Given the description of an element on the screen output the (x, y) to click on. 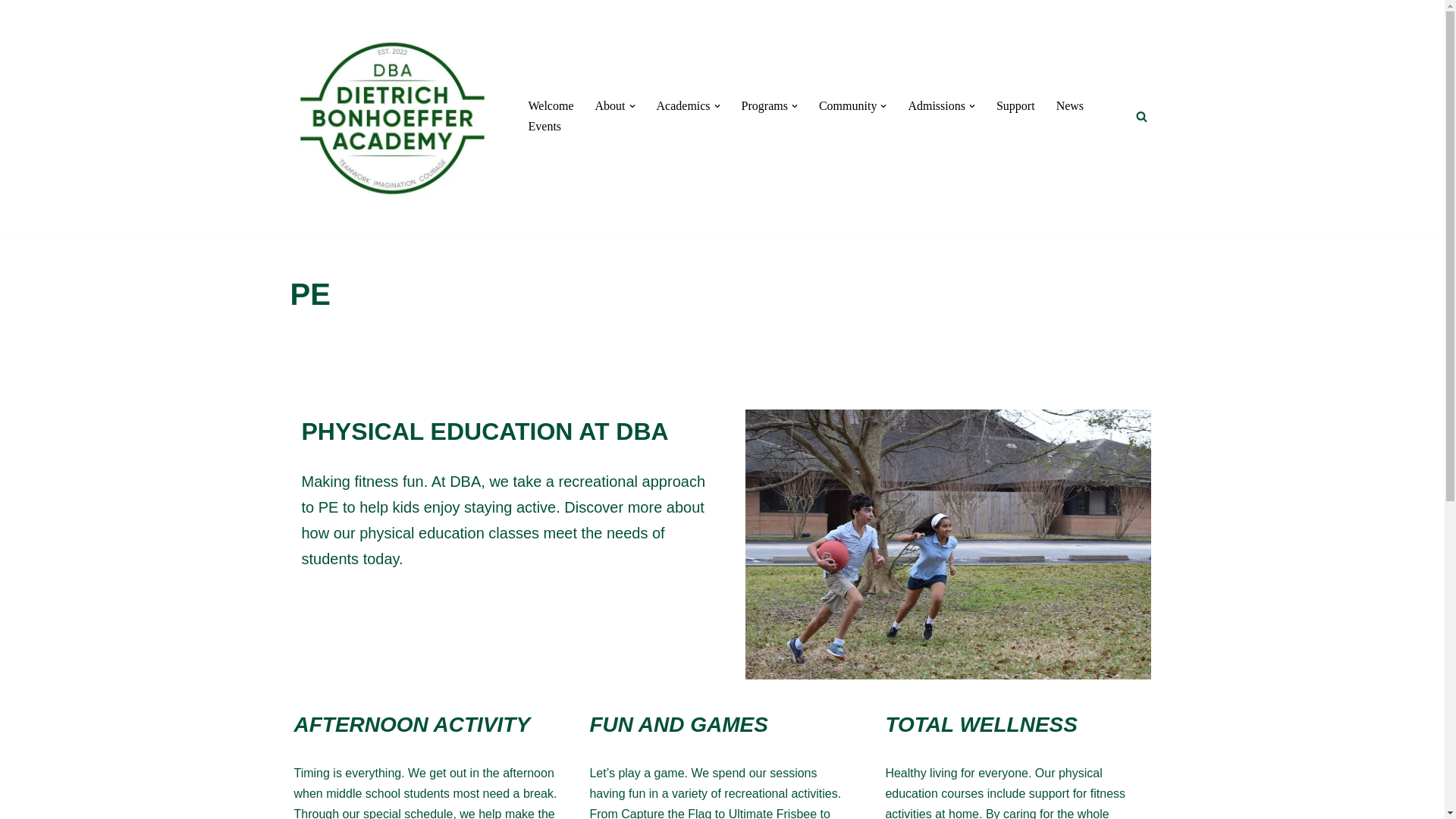
Welcome (550, 105)
Academics (683, 105)
Admissions (936, 105)
About (610, 105)
News (1070, 105)
Support (1015, 105)
Community (847, 105)
Skip to content (11, 31)
Programs (764, 105)
Events (543, 126)
